Given the description of an element on the screen output the (x, y) to click on. 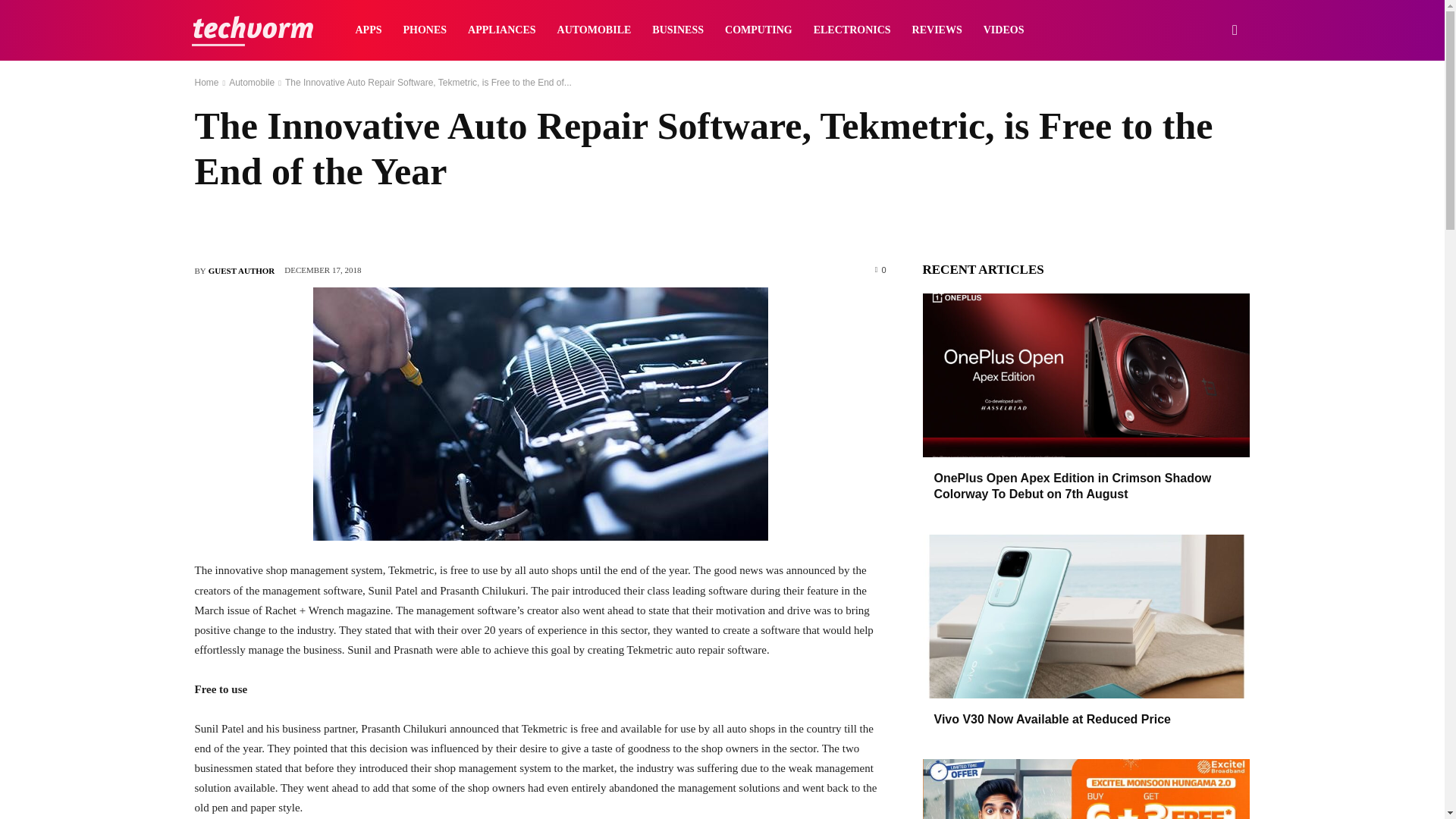
BUSINESS (678, 30)
REVIEWS (936, 30)
TechVorm (251, 30)
Search (1210, 102)
GUEST AUTHOR (241, 270)
0 (880, 268)
COMPUTING (758, 30)
Automobile (251, 81)
AUTOMOBILE (594, 30)
Technology news, as it happens! (251, 30)
PHONES (425, 30)
ELECTRONICS (852, 30)
VIDEOS (1003, 30)
APPLIANCES (501, 30)
Home (205, 81)
